Given the description of an element on the screen output the (x, y) to click on. 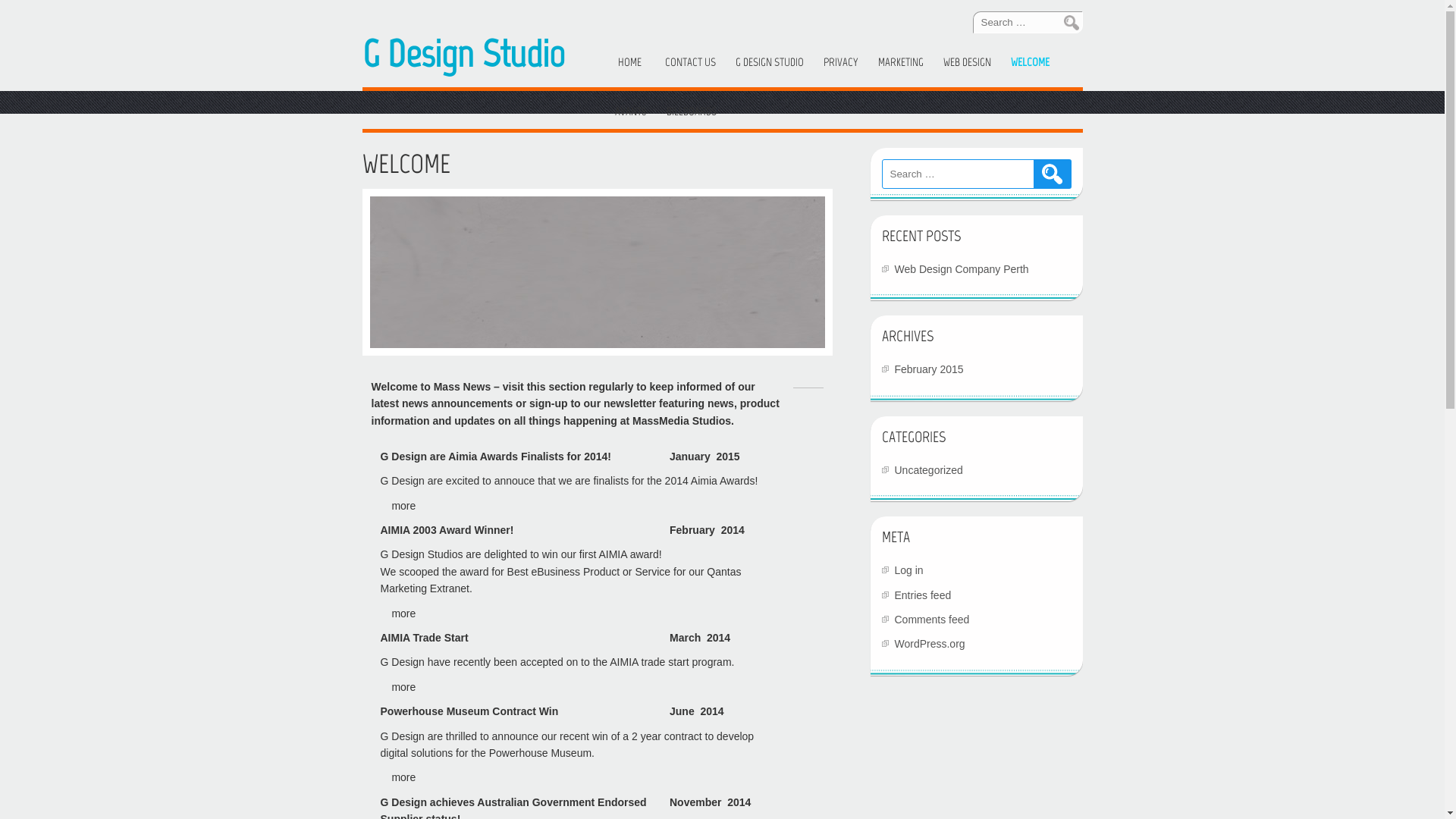
WordPress.org Element type: text (929, 643)
WEB DESIGN Element type: text (966, 62)
Uncategorized Element type: text (928, 470)
Comments feed Element type: text (931, 619)
February 2015 Element type: text (928, 369)
G DESIGN STUDIO Element type: text (769, 62)
CONTACT US Element type: text (689, 62)
WELCOME Element type: text (1029, 62)
AVANT8 Element type: text (629, 111)
Log in Element type: text (908, 570)
Search Element type: text (1063, 22)
HOME Element type: text (629, 62)
PRIVACY Element type: text (840, 62)
MARKETING Element type: text (900, 62)
Entries feed Element type: text (922, 595)
Web Design Company Perth Element type: text (961, 269)
BILLBOARDS Element type: text (690, 111)
Search Element type: text (1051, 173)
